Given the description of an element on the screen output the (x, y) to click on. 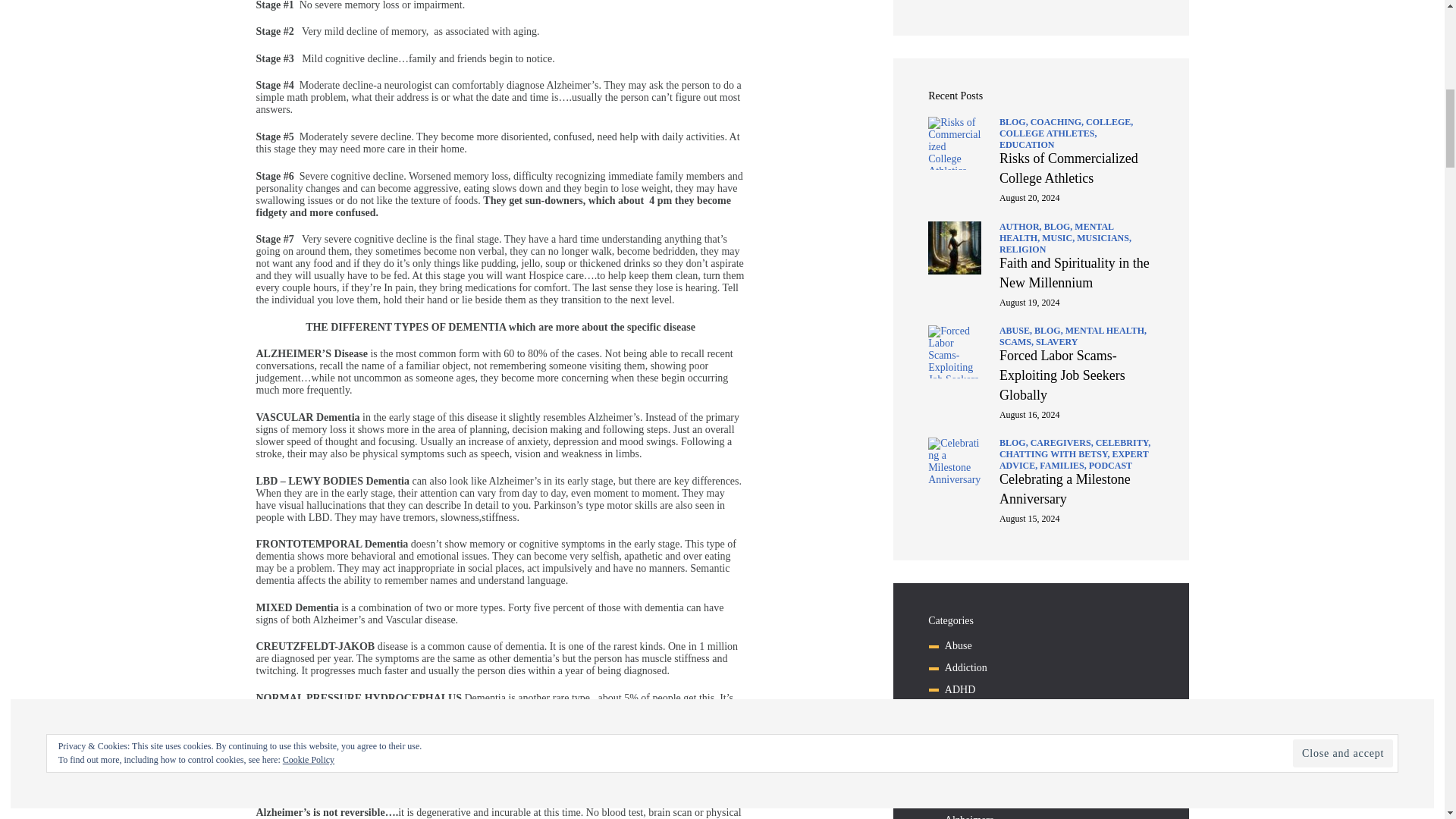
View all posts in College Athletes (1047, 132)
View all posts in College (1109, 122)
View all posts in Mental Health (1055, 232)
View all posts in Education (1026, 144)
View all posts in Author (1020, 226)
View all posts in BLOG (1059, 226)
View all posts in BLOG (1014, 122)
View all posts in Music (1059, 237)
View all posts in Coaching (1058, 122)
View all posts in Musicians (1104, 237)
